Given the description of an element on the screen output the (x, y) to click on. 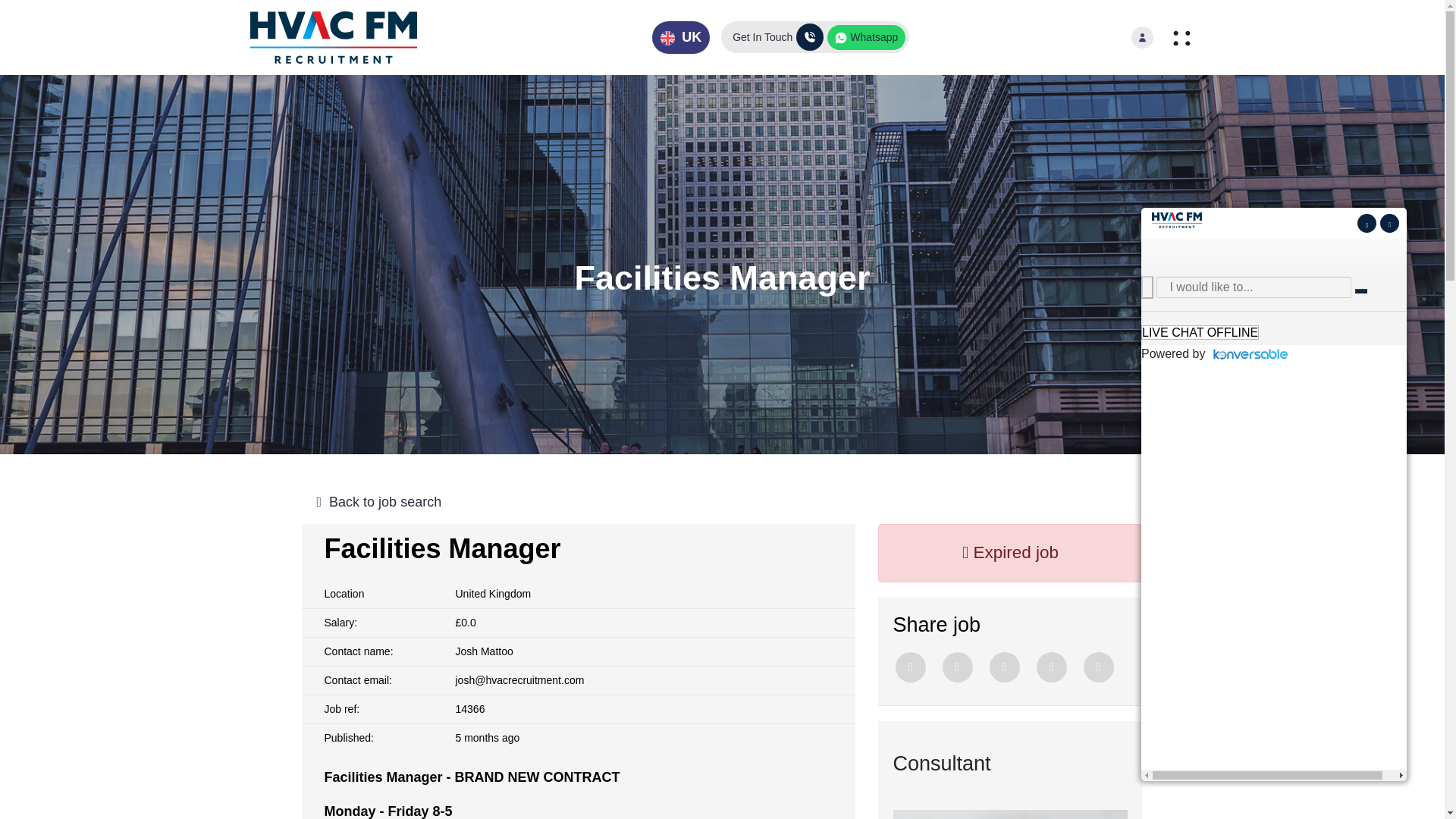
share on LinkedIn (1003, 666)
Email (1050, 666)
Whatsapp (866, 37)
Back to job search (721, 502)
UK (681, 37)
share on Facebook (957, 666)
send in Whatsapp (1098, 666)
Tweet this (909, 666)
Get In Touch (778, 36)
